Given the description of an element on the screen output the (x, y) to click on. 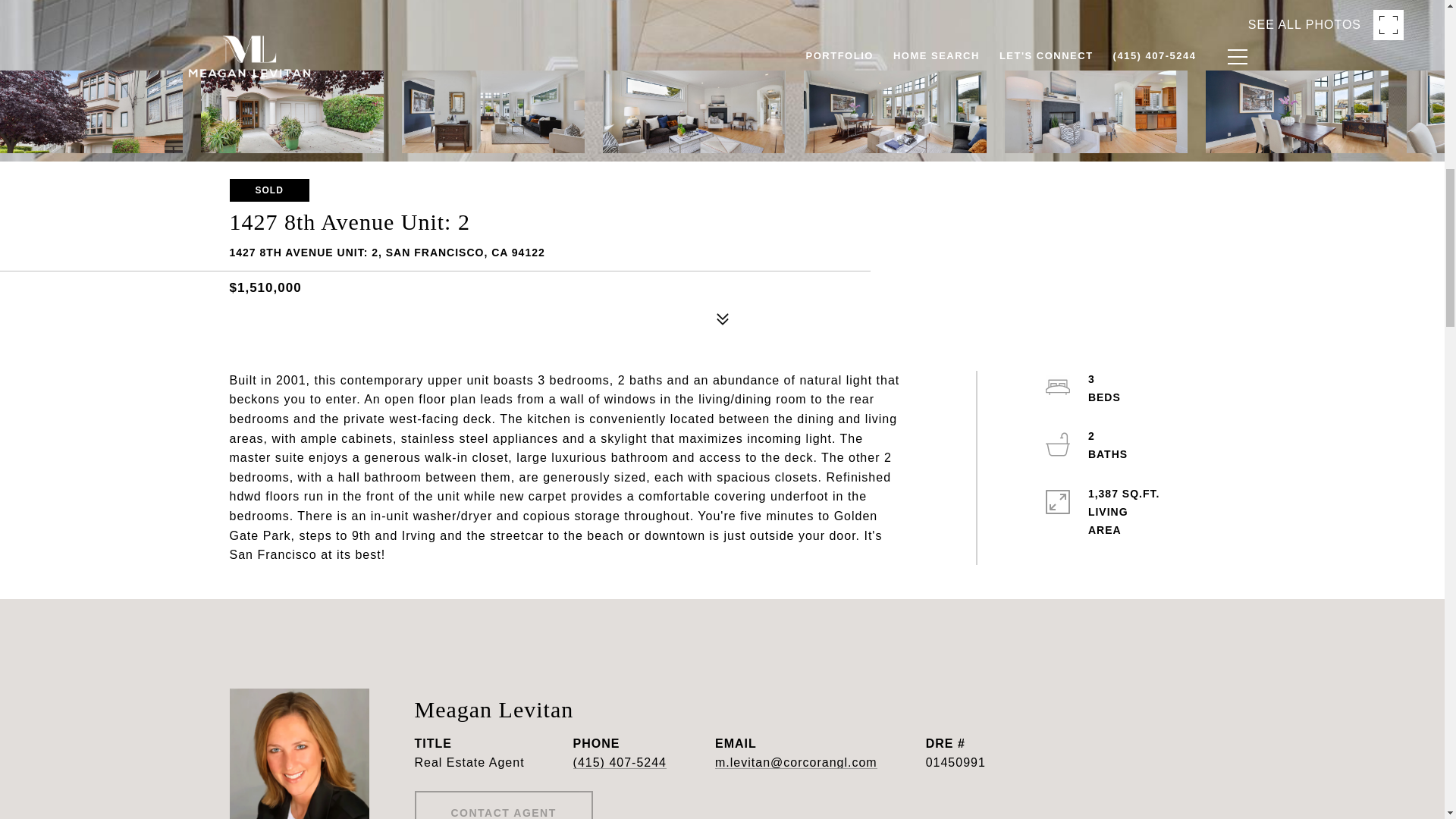
CONTACT AGENT (502, 805)
